Given the description of an element on the screen output the (x, y) to click on. 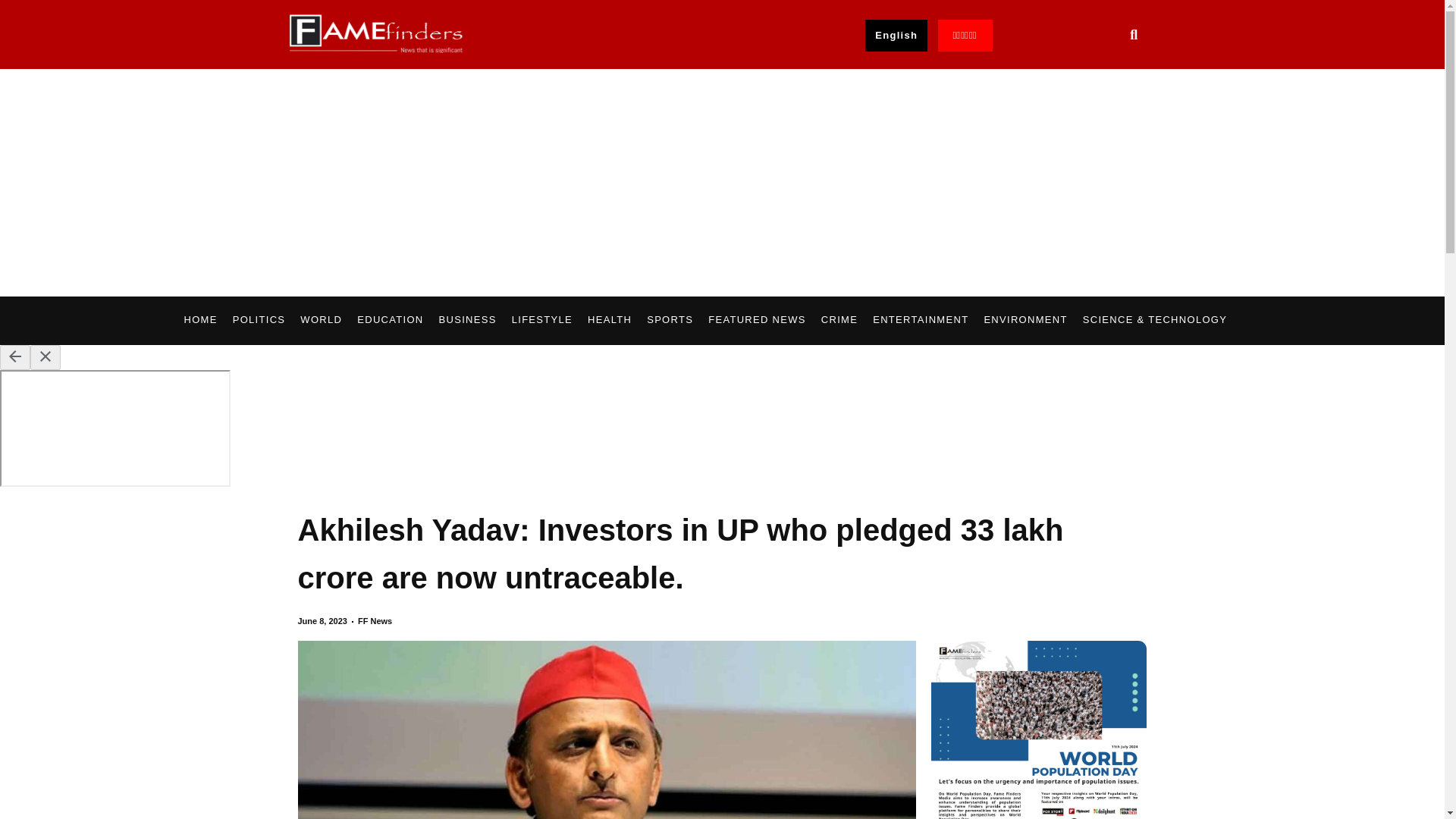
CRIME (839, 320)
ENTERTAINMENT (920, 320)
WORLD (320, 320)
FEATURED NEWS (756, 320)
BUSINESS (467, 320)
English (895, 35)
HOME (199, 320)
EDUCATION (389, 320)
SPORTS (669, 320)
